Given the description of an element on the screen output the (x, y) to click on. 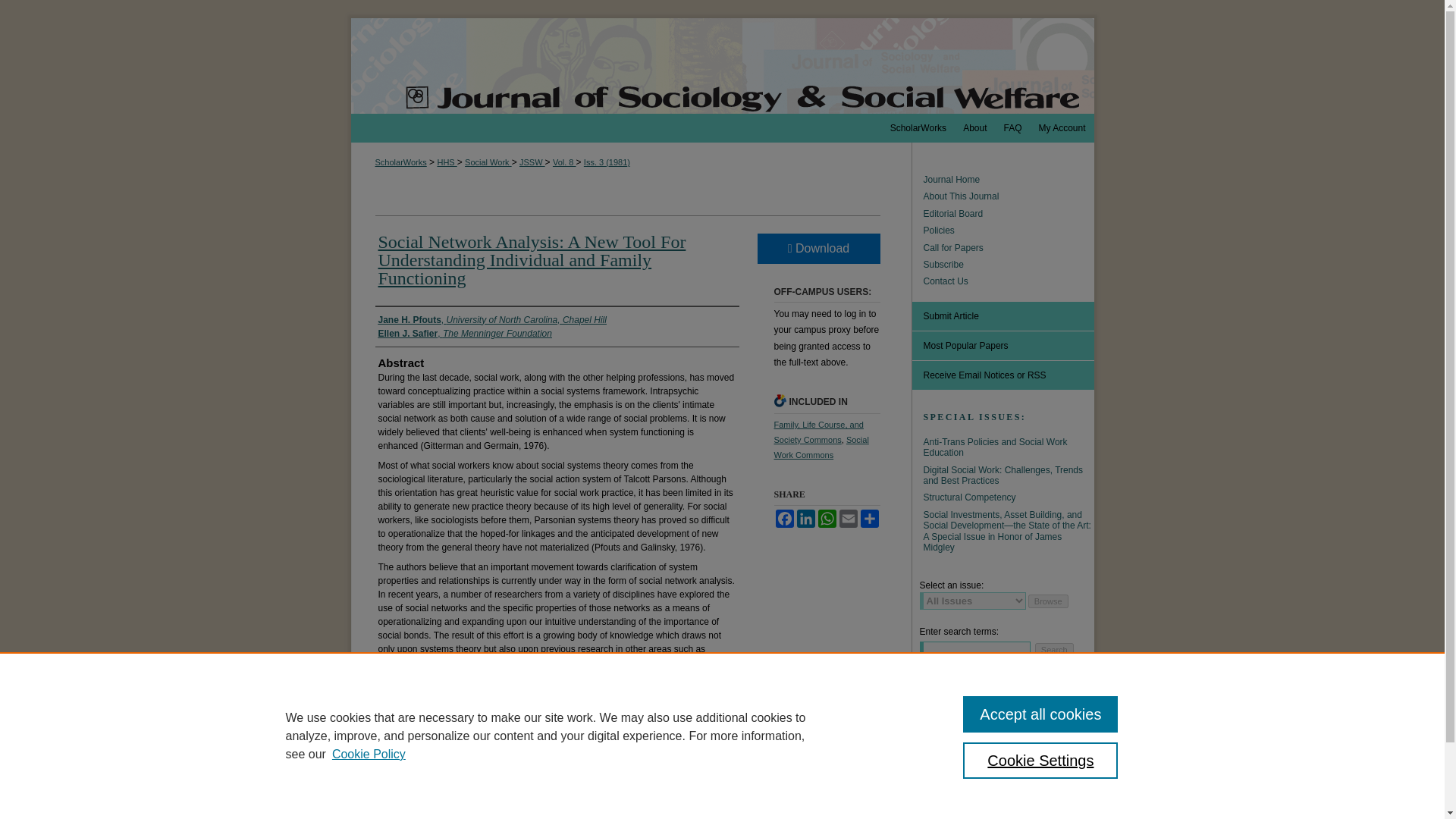
Social Work Commons (820, 446)
Browse (1047, 601)
My Account (1061, 127)
Policies (1008, 230)
ScholarWorks (400, 162)
Call for Papers (1008, 247)
About (974, 127)
Family, Life Course, and Society Commons (818, 432)
FAQ (1011, 127)
FAQ (1011, 127)
Search (1054, 649)
JSSW (531, 162)
LinkedIn (804, 518)
About (974, 127)
Jane H. Pfouts, University of North Carolina, Chapel Hill (491, 319)
